Given the description of an element on the screen output the (x, y) to click on. 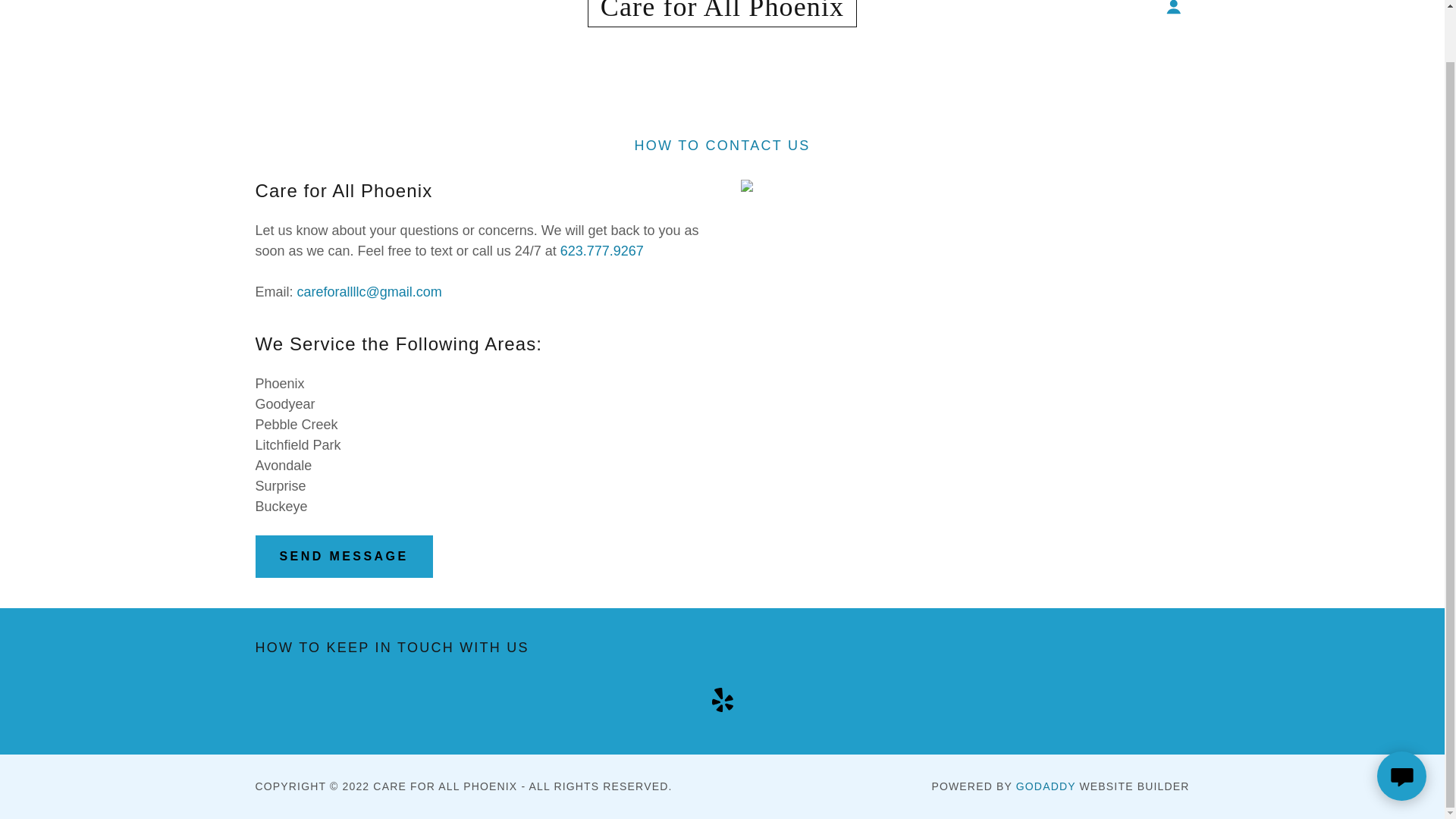
Care for All Phoenix (722, 11)
SEND MESSAGE (343, 556)
623.777.9267 (601, 250)
GODADDY (1045, 786)
Care for All Phoenix (722, 11)
